Given the description of an element on the screen output the (x, y) to click on. 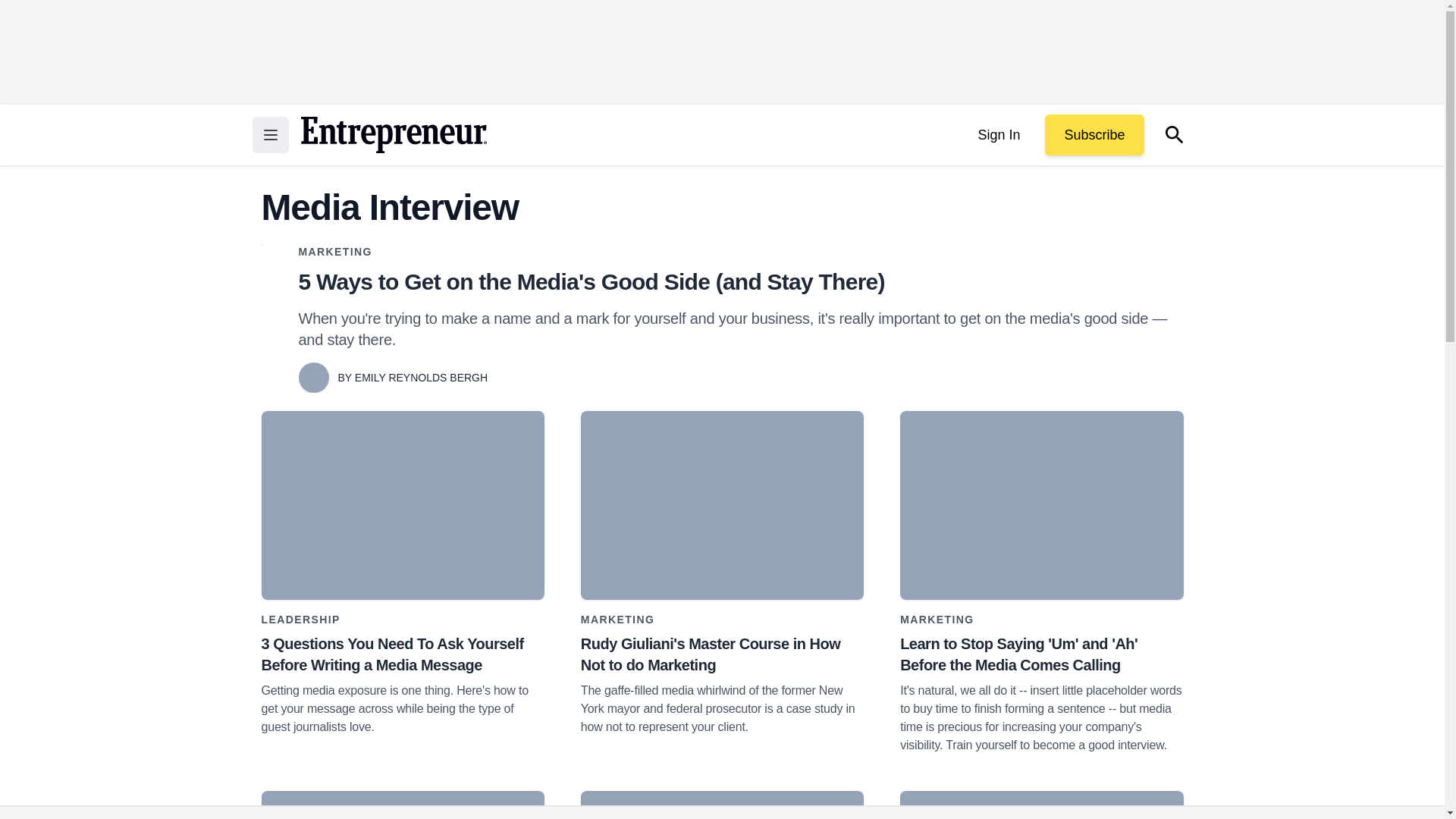
Subscribe (1093, 134)
Sign In (998, 134)
Return to the home page (392, 135)
